Given the description of an element on the screen output the (x, y) to click on. 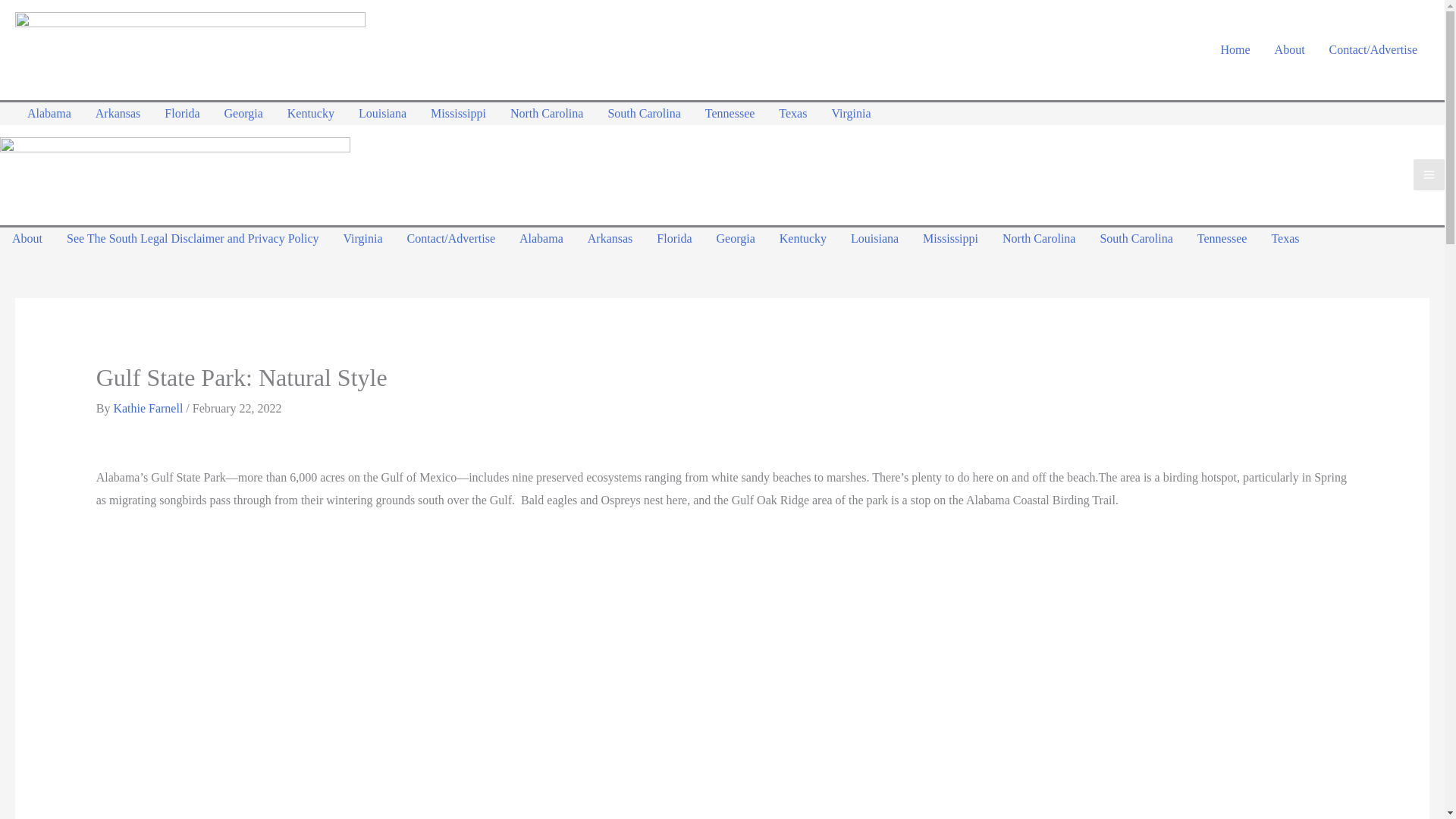
Alabama (540, 238)
Arkansas (117, 113)
Texas (1285, 238)
Virginia (850, 113)
Louisiana (382, 113)
Virginia (362, 238)
Mississippi (950, 238)
South Carolina (644, 113)
Georgia (735, 238)
Alabama (48, 113)
